Given the description of an element on the screen output the (x, y) to click on. 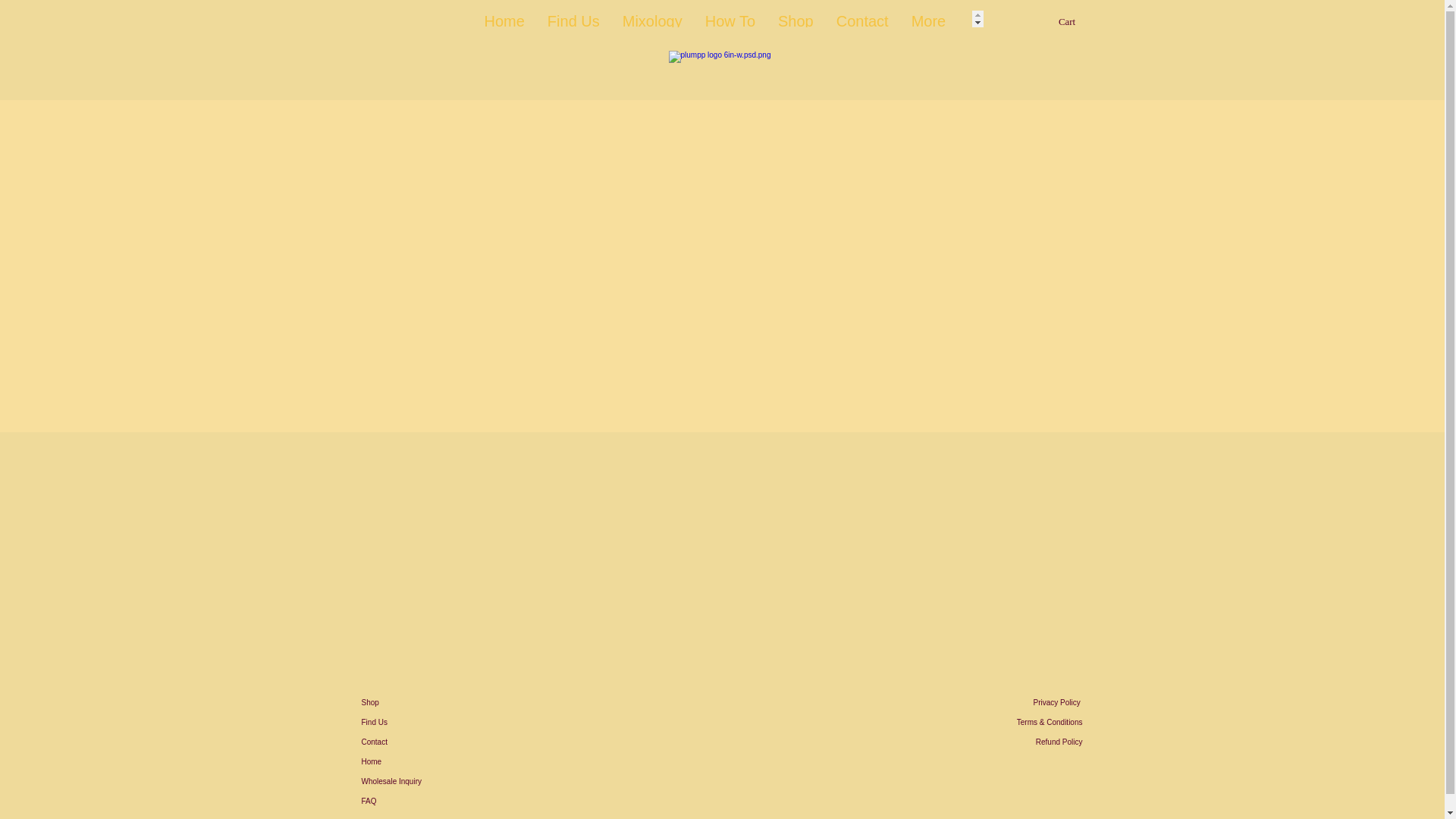
Shop (796, 18)
Cart (1075, 21)
Refund Policy (1014, 742)
FAQ (414, 801)
Home (414, 762)
Mixology (652, 18)
Find Us (573, 18)
Contact (862, 18)
Plumpp logo white.png (722, 65)
Find Us (414, 722)
